Given the description of an element on the screen output the (x, y) to click on. 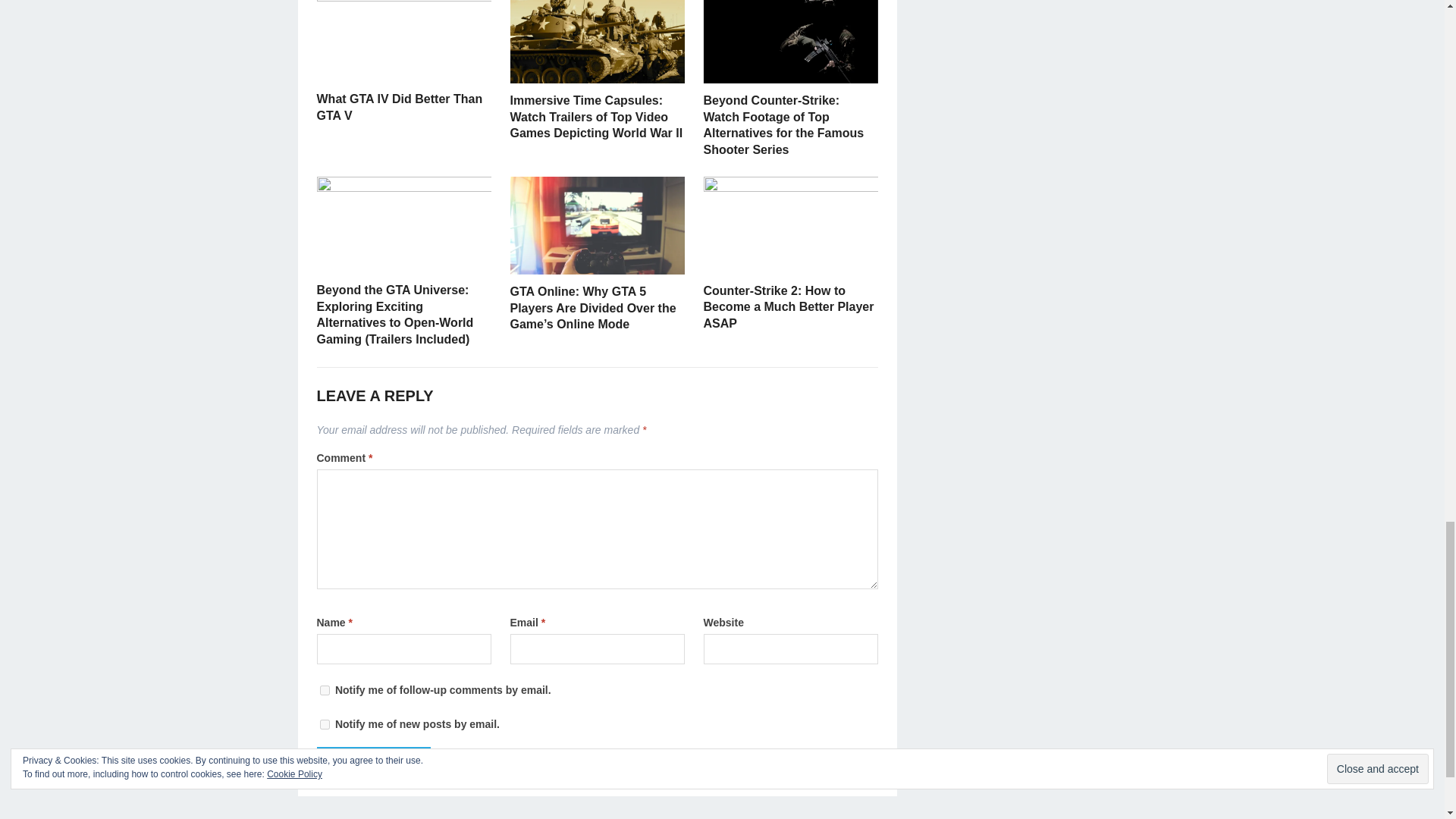
Counter-Strike 2: How to Become a Much Better Player ASAP (789, 307)
subscribe (325, 690)
Post Comment (373, 761)
What GTA IV Did Better Than GTA V (400, 107)
subscribe (325, 724)
Post Comment (373, 761)
